Given the description of an element on the screen output the (x, y) to click on. 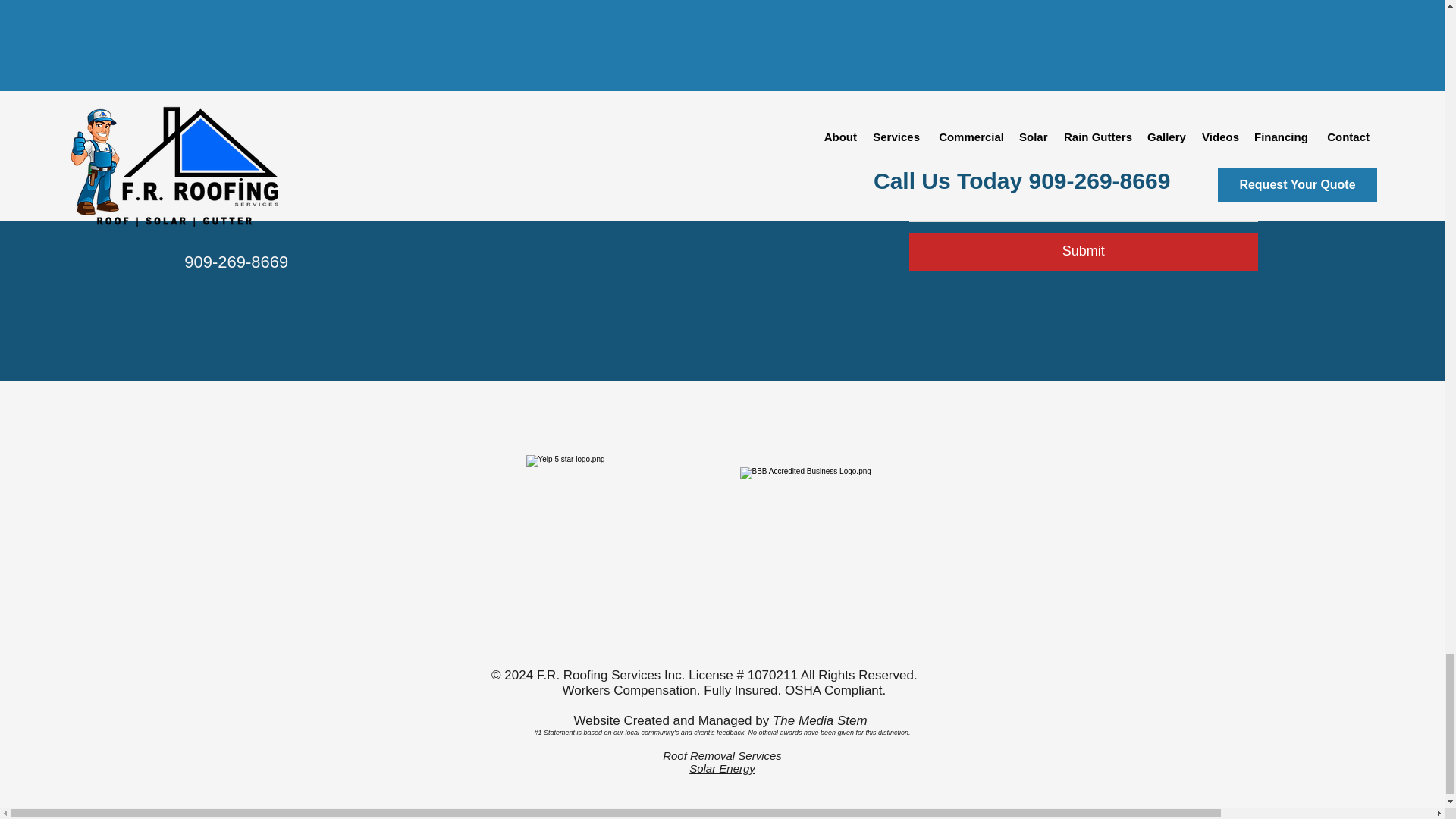
Roof Removal Services (721, 755)
Submit (1082, 251)
909-269-8669 (236, 261)
Solar Energy (721, 768)
The Media Stem (820, 720)
